Given the description of an element on the screen output the (x, y) to click on. 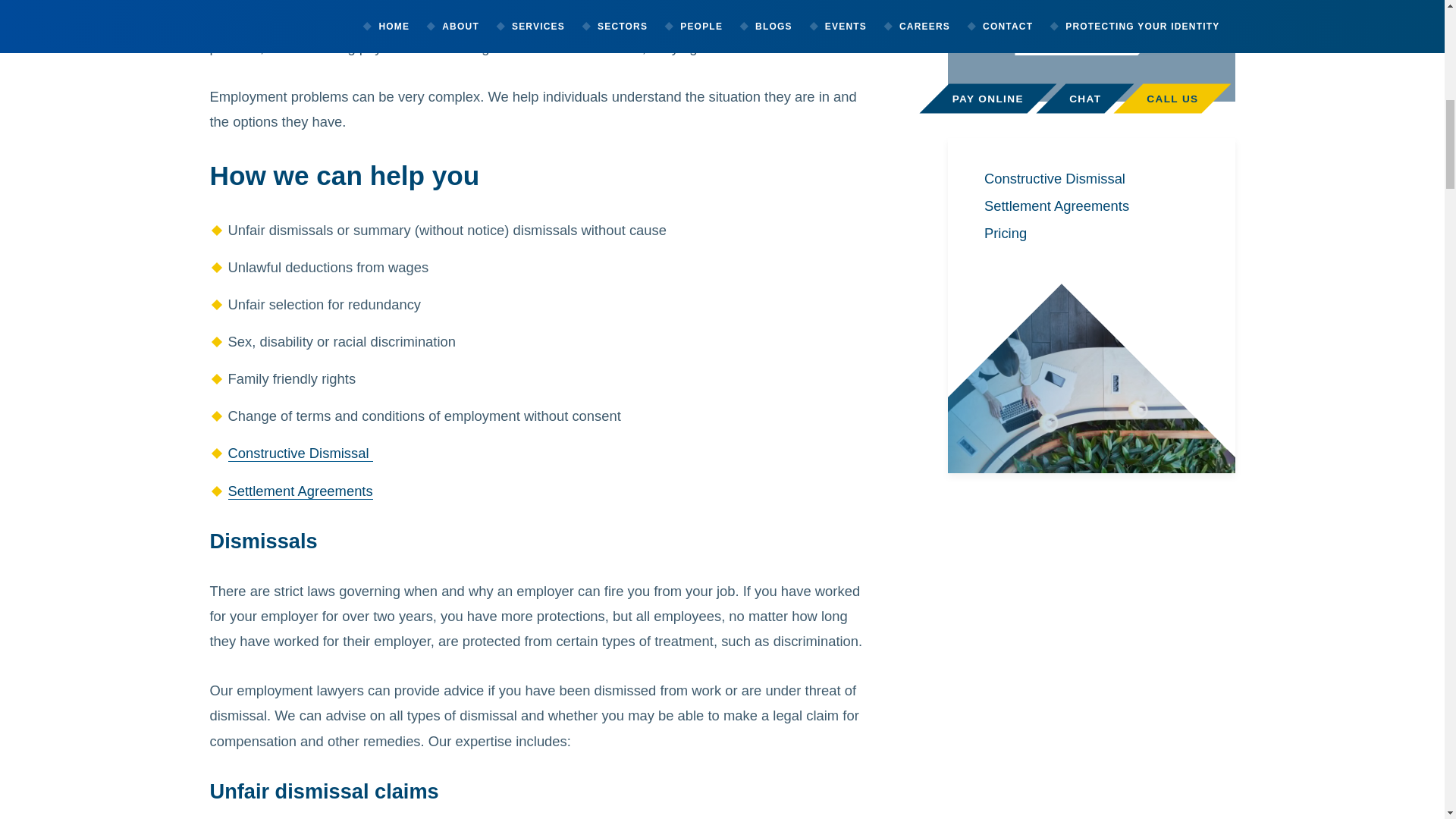
Send form (1090, 37)
